Given the description of an element on the screen output the (x, y) to click on. 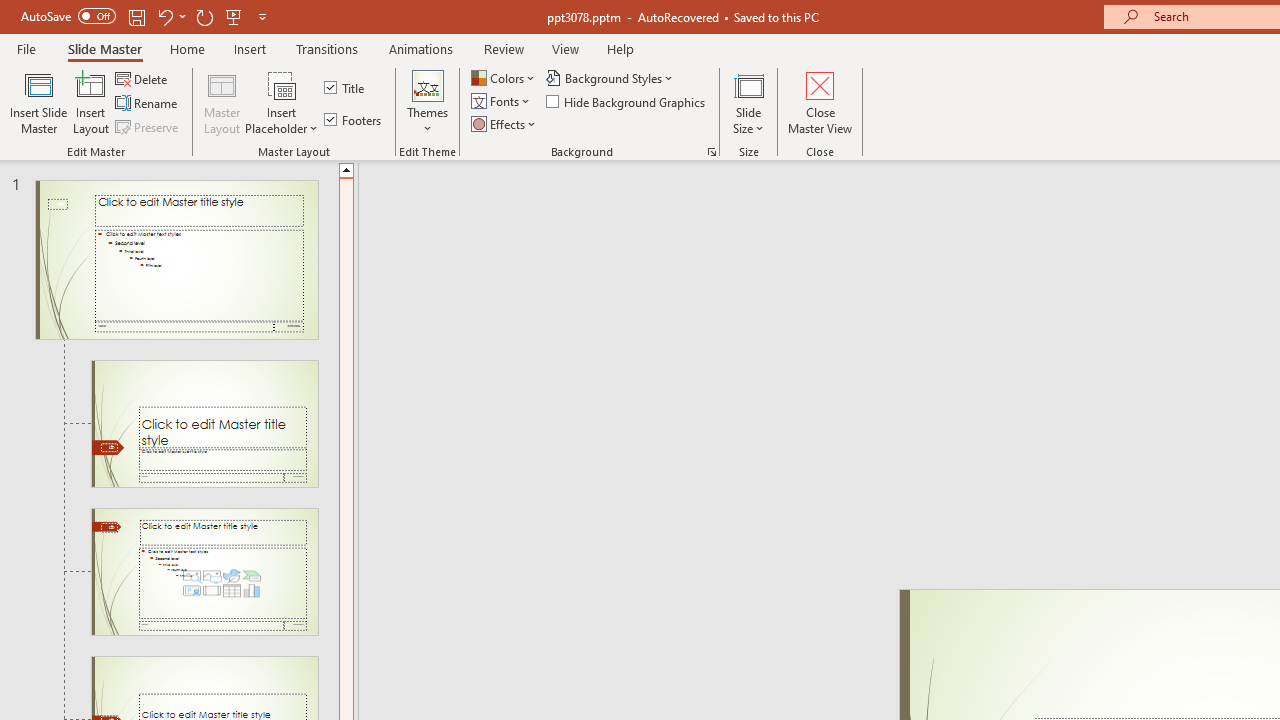
Preserve (148, 126)
Insert Slide Master (38, 102)
Close Master View (820, 102)
Hide Background Graphics (626, 101)
Master Layout... (221, 102)
Line up (345, 169)
Slide Title Slide Layout: used by slide(s) 1 (204, 423)
Slide Title and Content Layout: used by no slides (204, 572)
Format Background... (711, 151)
